Given the description of an element on the screen output the (x, y) to click on. 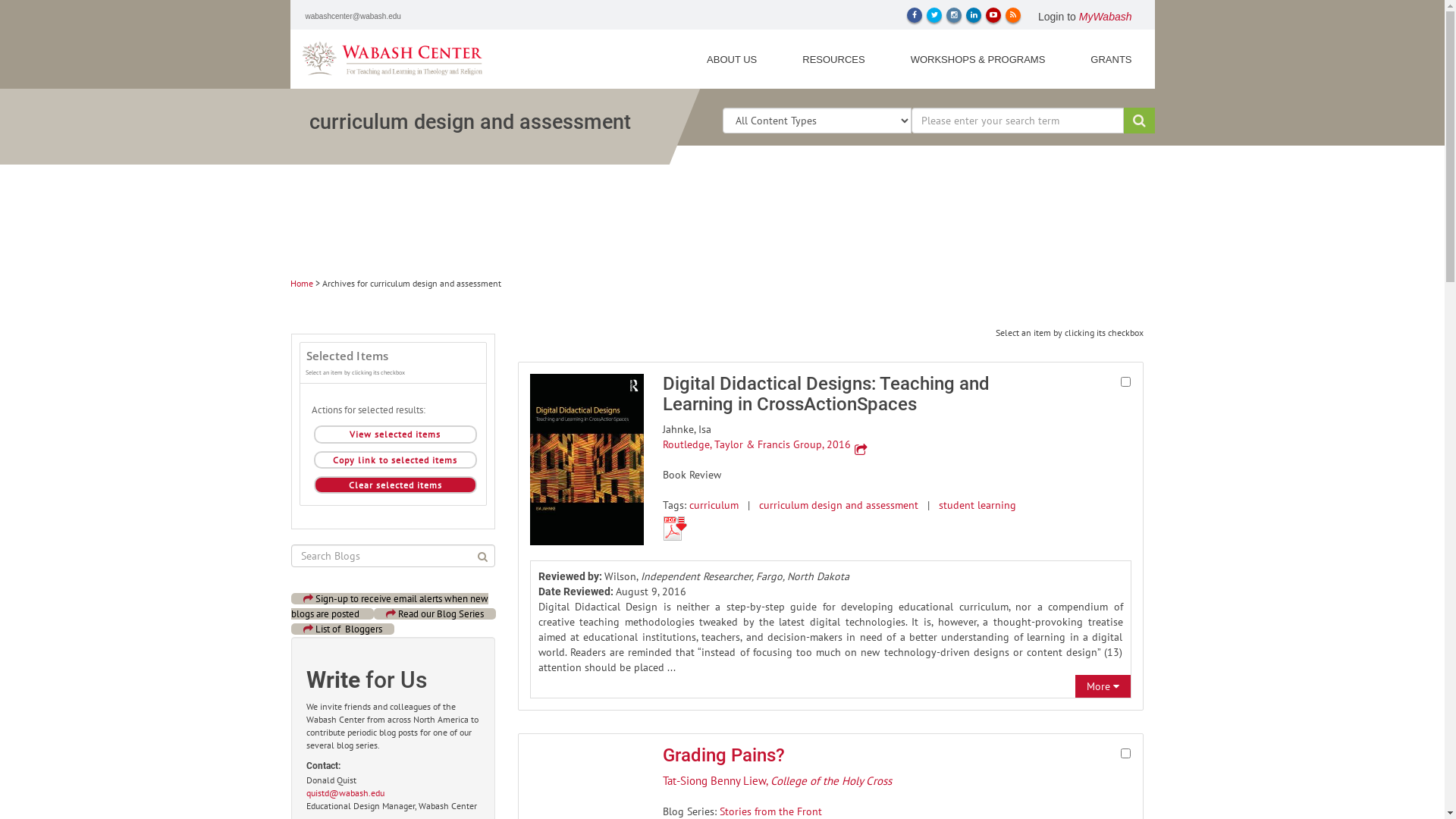
Stories from the Front Element type: text (770, 811)
Facebook Element type: text (914, 14)
View selected items Element type: text (394, 433)
wabashcenter@wabash.edu Element type: text (352, 16)
Skip to primary navigation Element type: text (30, 0)
Home Element type: text (300, 282)
Sign-up to receive email alerts when new blogs are posted Element type: text (389, 606)
Routledge, Taylor & Francis Group, 2016 Element type: text (756, 444)
ABOUT US Element type: text (731, 58)
Clear selected items Element type: text (394, 484)
RSS Element type: text (1012, 14)
GRANTS Element type: text (1110, 58)
Linkedin Element type: text (973, 14)
Twitter Element type: text (933, 14)
Tat-Siong Benny Liew, College of the Holy Cross Element type: text (776, 780)
More Element type: text (1097, 686)
WORKSHOPS & PROGRAMS Element type: text (978, 58)
Read our Blog Series Element type: text (434, 613)
Download Review as a PDF Element type: hover (674, 528)
Instagram Element type: text (953, 14)
List of  Bloggers Element type: text (342, 628)
Search Element type: text (1138, 120)
student learning Element type: text (977, 504)
MyWabash Element type: text (1105, 16)
Copy link to selected items Element type: text (394, 459)
Youtube Element type: text (993, 14)
Grading Pains? Element type: text (723, 754)
Cover image Element type: hover (586, 458)
RESOURCES Element type: text (832, 58)
curriculum design and assessment Element type: text (838, 504)
quistd@wabash.edu Element type: text (345, 792)
curriculum Element type: text (713, 504)
